Given the description of an element on the screen output the (x, y) to click on. 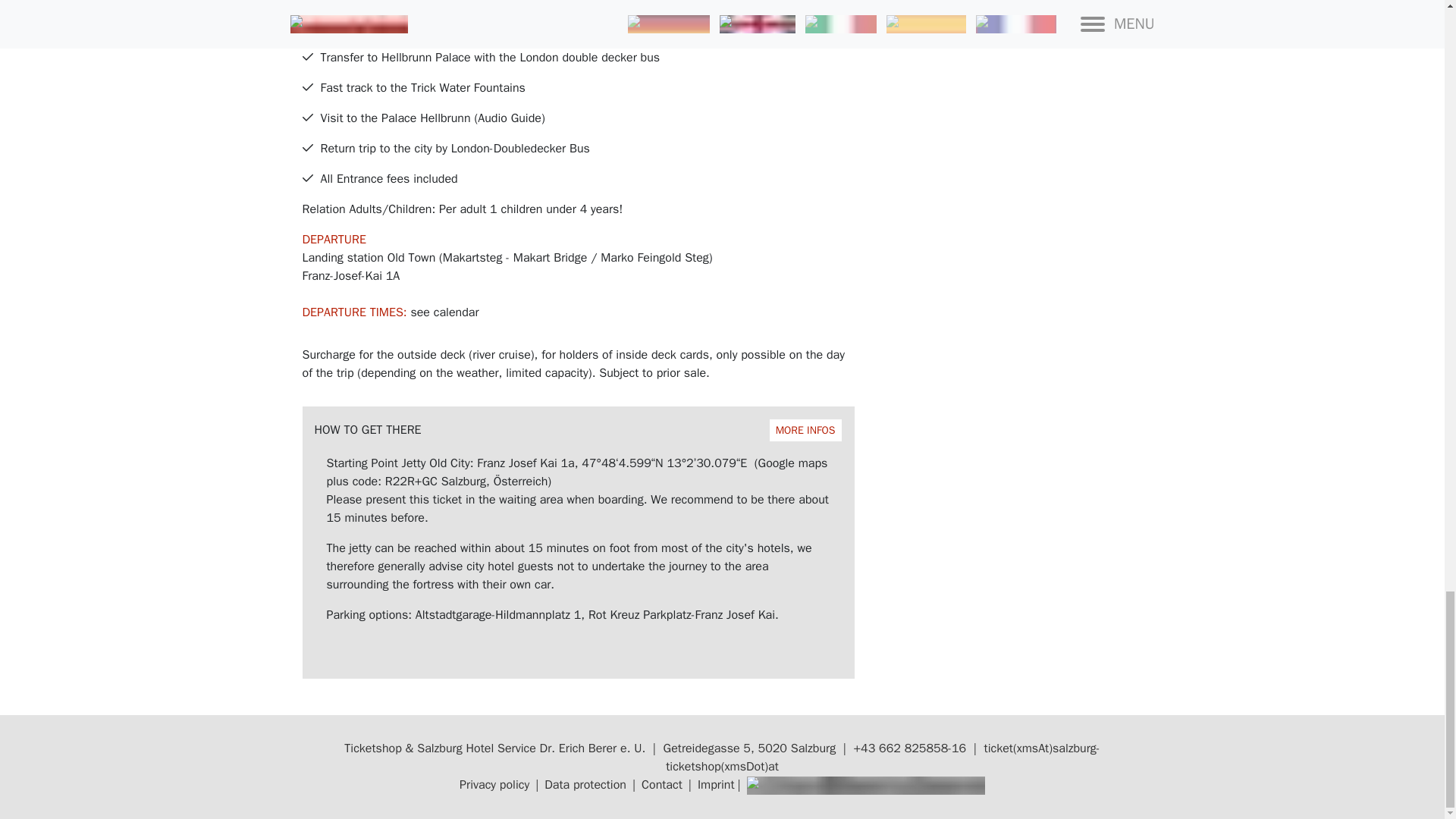
Contact (662, 784)
Data protection (585, 784)
Privacy policy (577, 430)
dieBeiden Internetagentur GmbH, Salzburg (494, 784)
Imprint (865, 784)
